Given the description of an element on the screen output the (x, y) to click on. 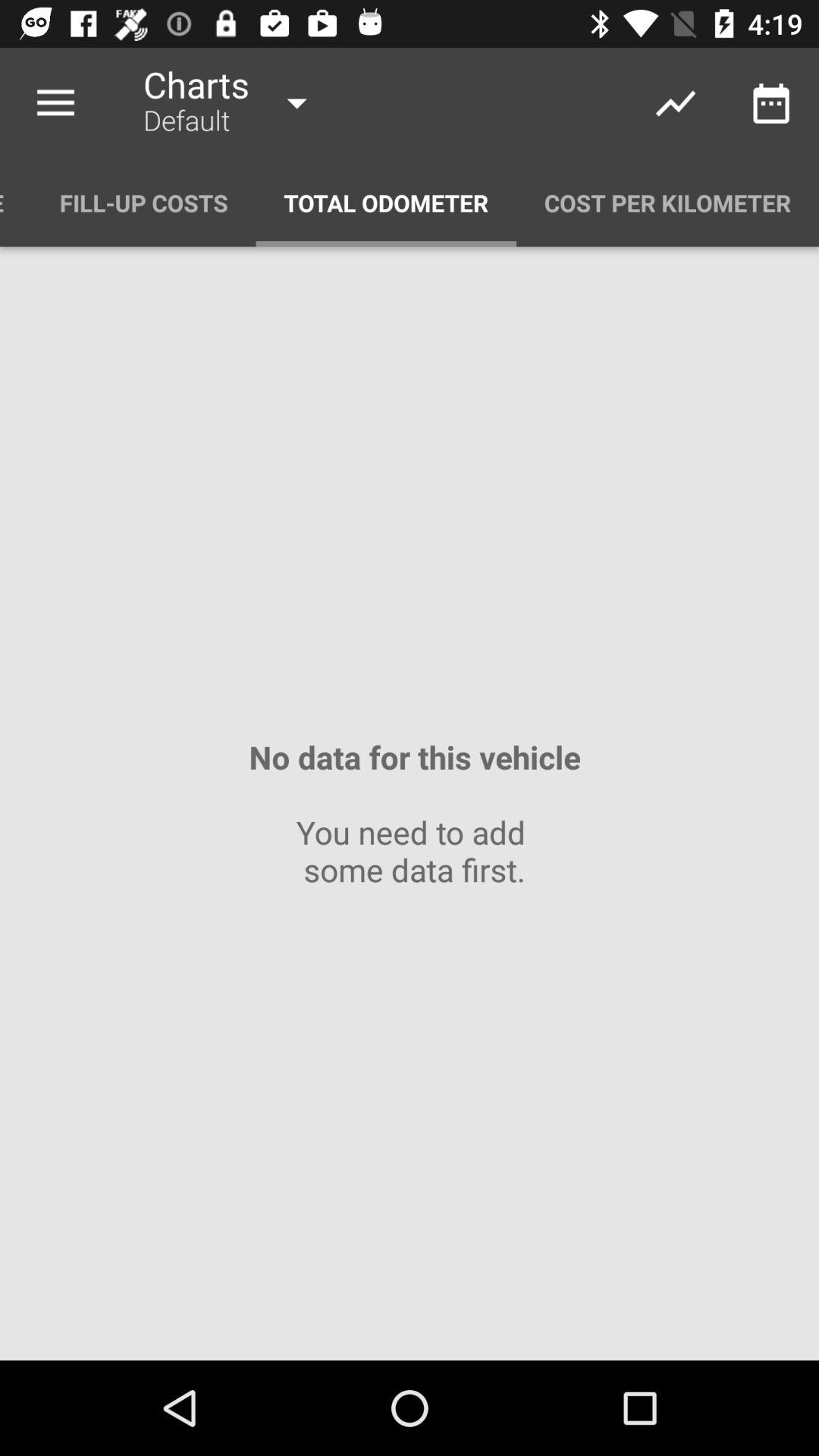
turn off icon above the no data for item (385, 202)
